Given the description of an element on the screen output the (x, y) to click on. 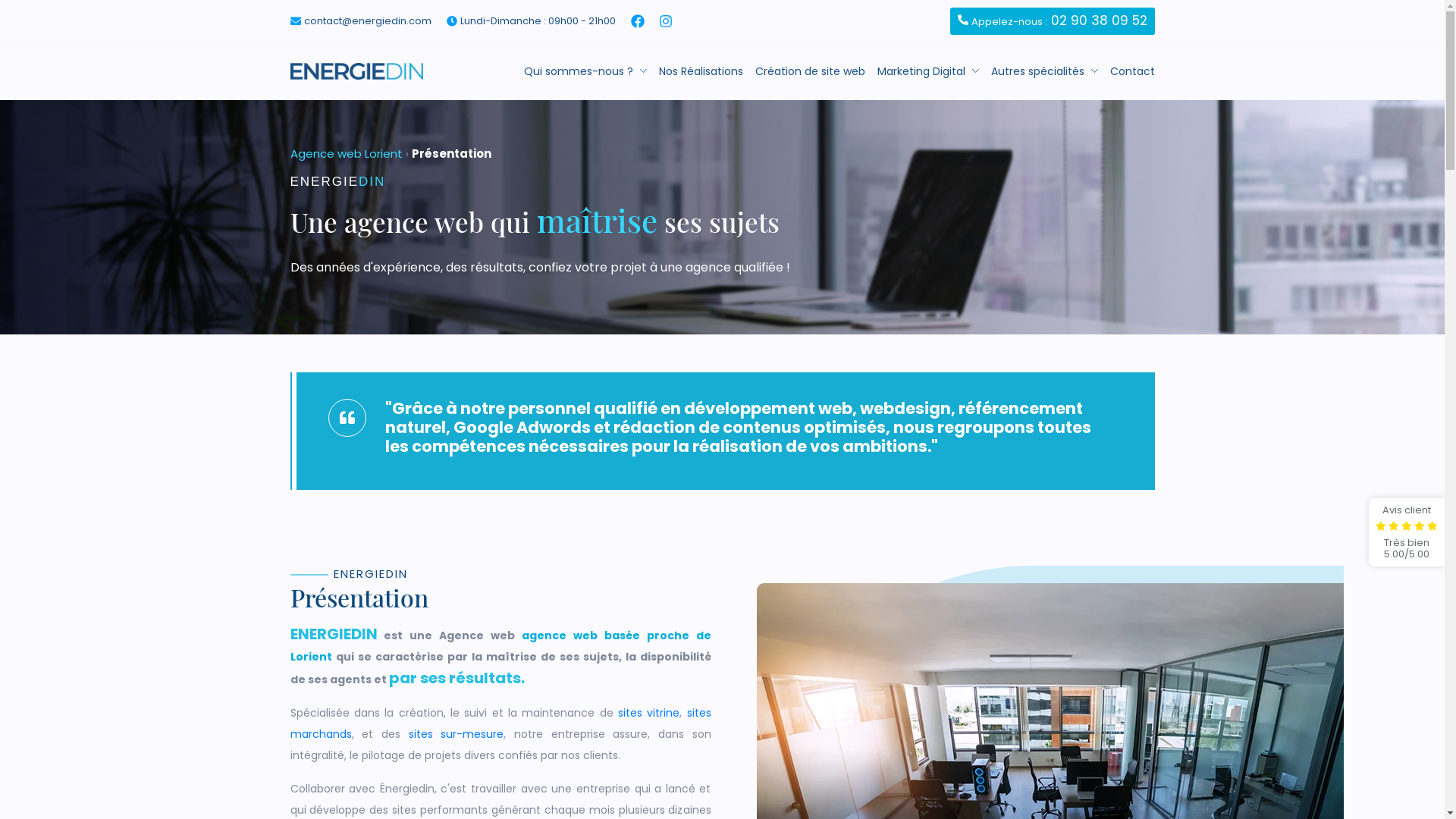
Qui sommes-nous ? Element type: text (584, 70)
Agence web Lorient Element type: text (345, 153)
sites marchands Element type: text (499, 723)
Appelez-nous : 02 90 38 09 52 Element type: text (1051, 20)
contact@energiedin.com Element type: text (366, 20)
sites sur-mesure Element type: text (455, 733)
Contact Element type: text (1132, 70)
Marketing Digital Element type: text (927, 70)
sites vitrine Element type: text (648, 712)
